Given the description of an element on the screen output the (x, y) to click on. 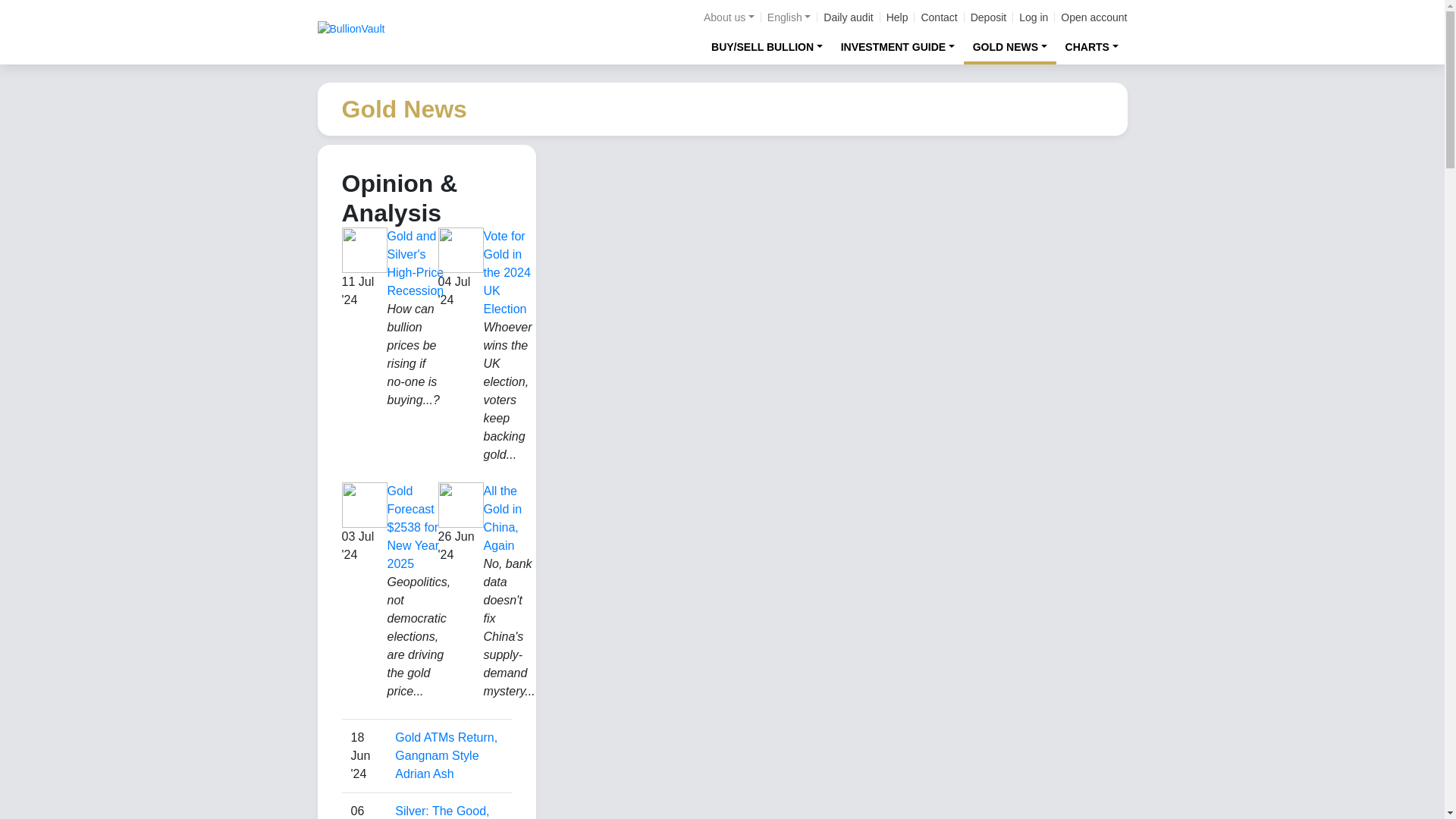
Contact (938, 17)
Log in (1033, 17)
Help (897, 17)
About us (728, 17)
View user profile. (423, 773)
INVESTMENT GUIDE (897, 46)
Deposit (988, 17)
English (788, 17)
Daily audit (848, 17)
Open account (1093, 17)
